Given the description of an element on the screen output the (x, y) to click on. 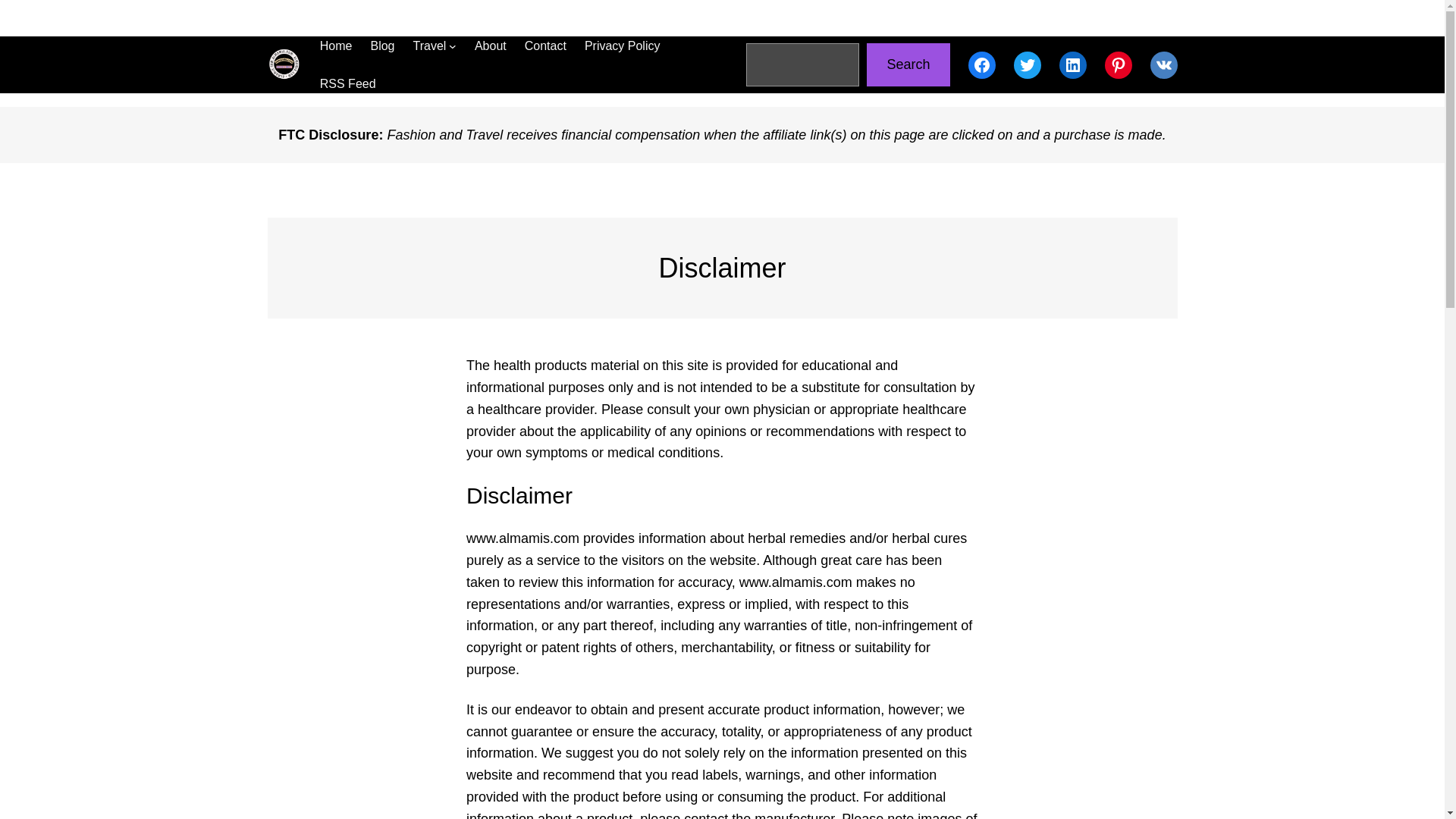
Privacy Policy (623, 46)
Home (336, 46)
About (490, 46)
Facebook (981, 64)
LinkedIn (1072, 64)
Twitter (1027, 64)
VK (1163, 64)
Search (907, 64)
Pinterest (1117, 64)
Travel (428, 46)
RSS Feed (347, 84)
Contact (545, 46)
Blog (381, 46)
